Given the description of an element on the screen output the (x, y) to click on. 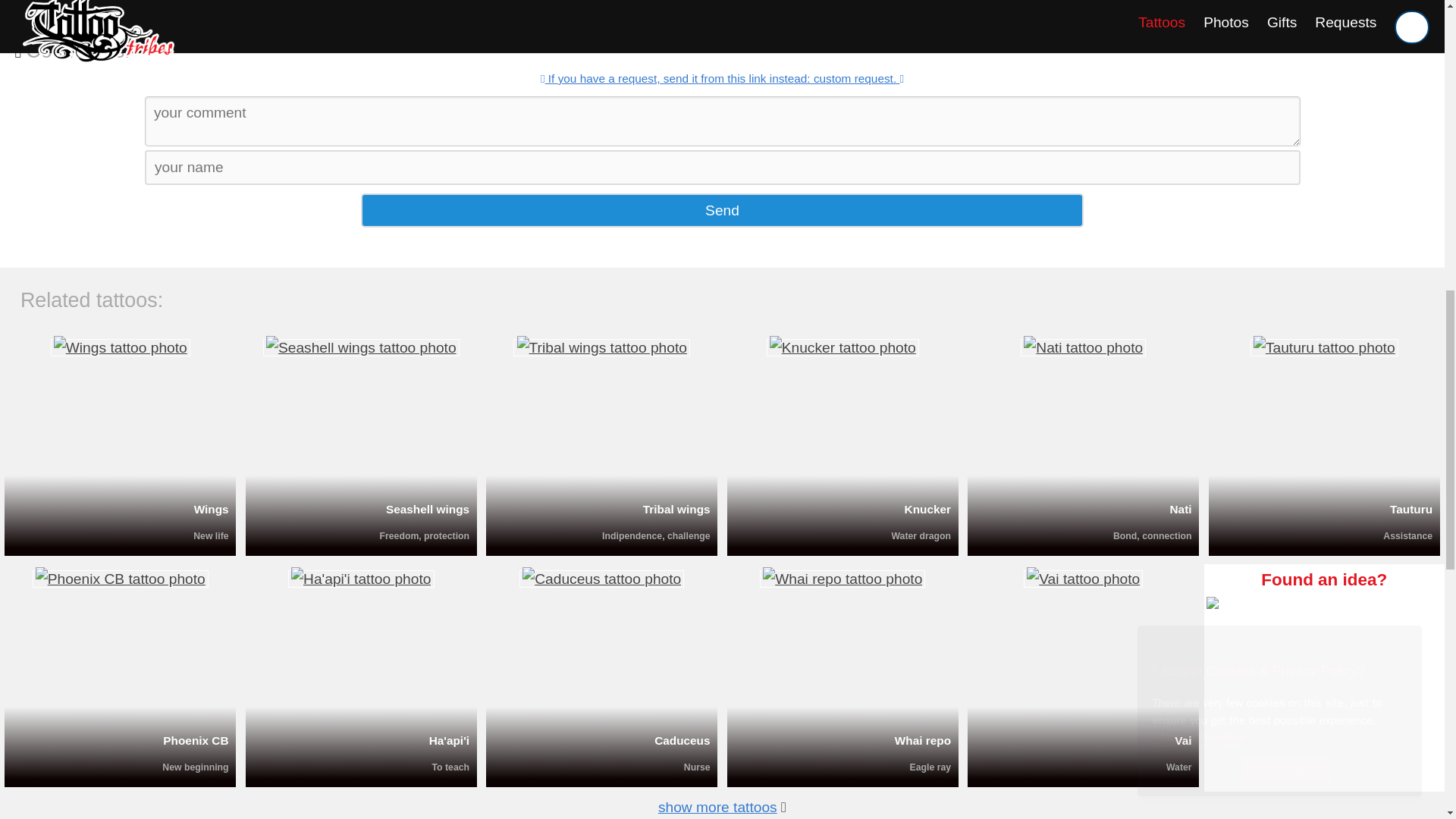
Send (722, 210)
Send (722, 210)
